Given the description of an element on the screen output the (x, y) to click on. 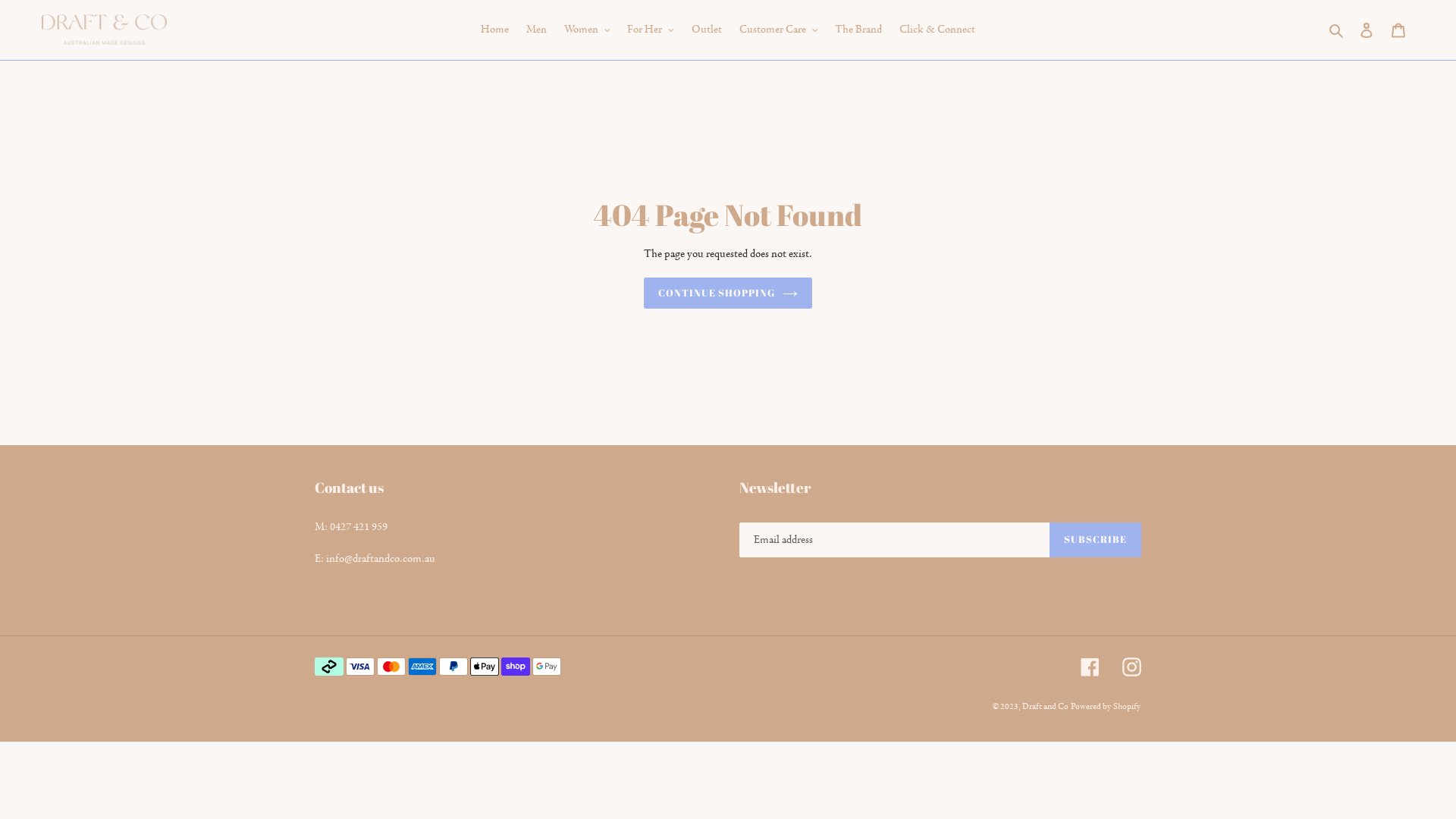
Powered by Shopify Element type: text (1105, 706)
Instagram Element type: text (1131, 666)
Click & Connect Element type: text (936, 29)
Cart Element type: text (1398, 29)
Log in Element type: text (1366, 29)
The Brand Element type: text (858, 29)
Men Element type: text (536, 29)
Search Element type: text (1337, 29)
Customer Care Element type: text (778, 29)
For Her Element type: text (650, 29)
Facebook Element type: text (1089, 666)
Draft and Co Element type: text (1045, 706)
Outlet Element type: text (706, 29)
CONTINUE SHOPPING Element type: text (727, 293)
Women Element type: text (587, 29)
SUBSCRIBE Element type: text (1095, 539)
Home Element type: text (494, 29)
